Given the description of an element on the screen output the (x, y) to click on. 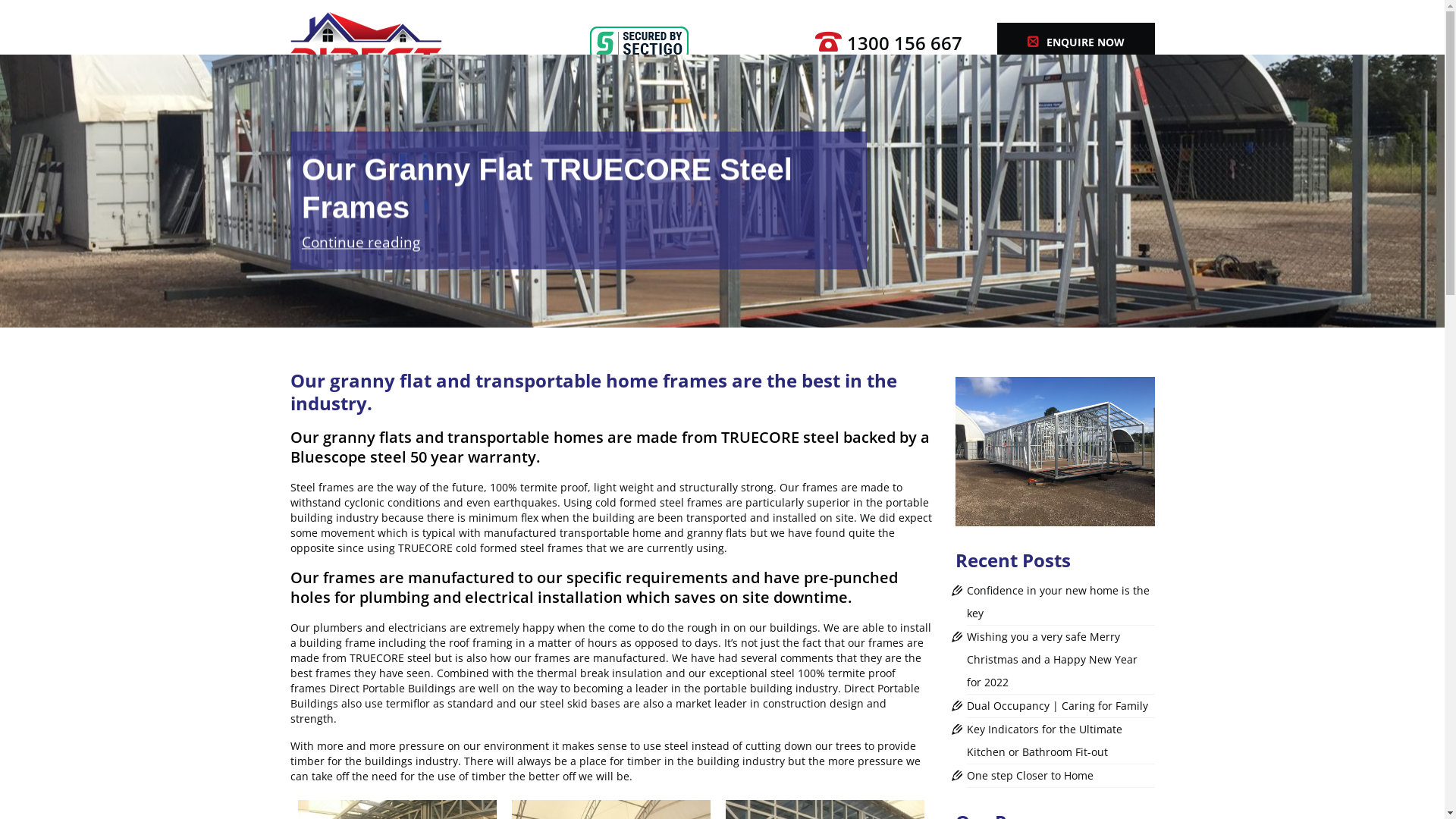
Continue reading Element type: text (360, 241)
Direct Portable Buildings Element type: hover (425, 46)
Key Indicators for the Ultimate Kitchen or Bathroom Fit-out Element type: text (1044, 740)
Confidence in your new home is the key Element type: text (1057, 601)
1300 156 667 Element type: text (903, 42)
One step Closer to Home Element type: text (1029, 775)
ENQUIRE NOW Element type: text (1075, 41)
Dual Occupancy | Caring for Family Element type: text (1057, 705)
